Given the description of an element on the screen output the (x, y) to click on. 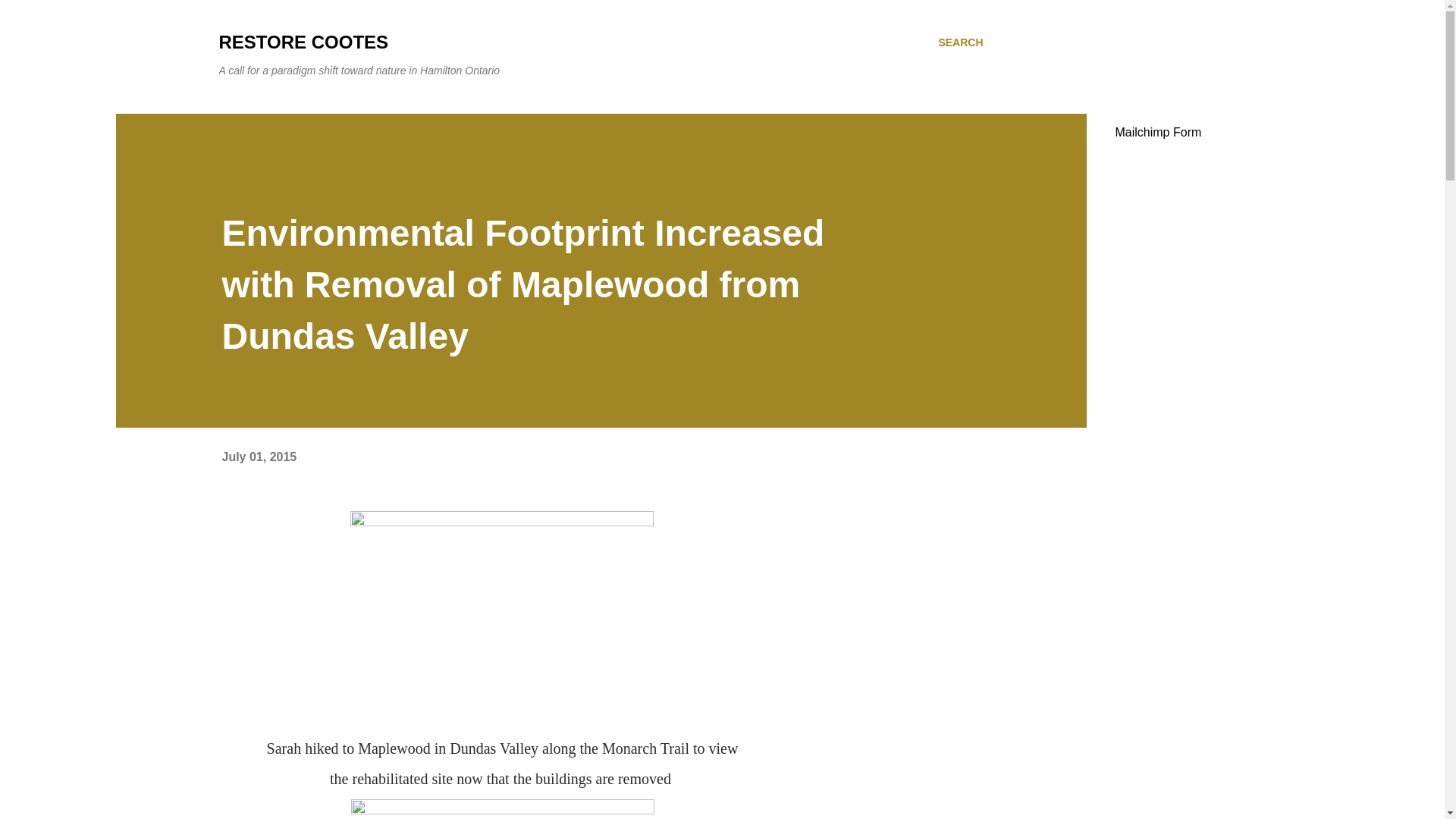
permanent link (259, 456)
SEARCH (959, 42)
July 01, 2015 (259, 456)
RESTORE COOTES (303, 41)
